Given the description of an element on the screen output the (x, y) to click on. 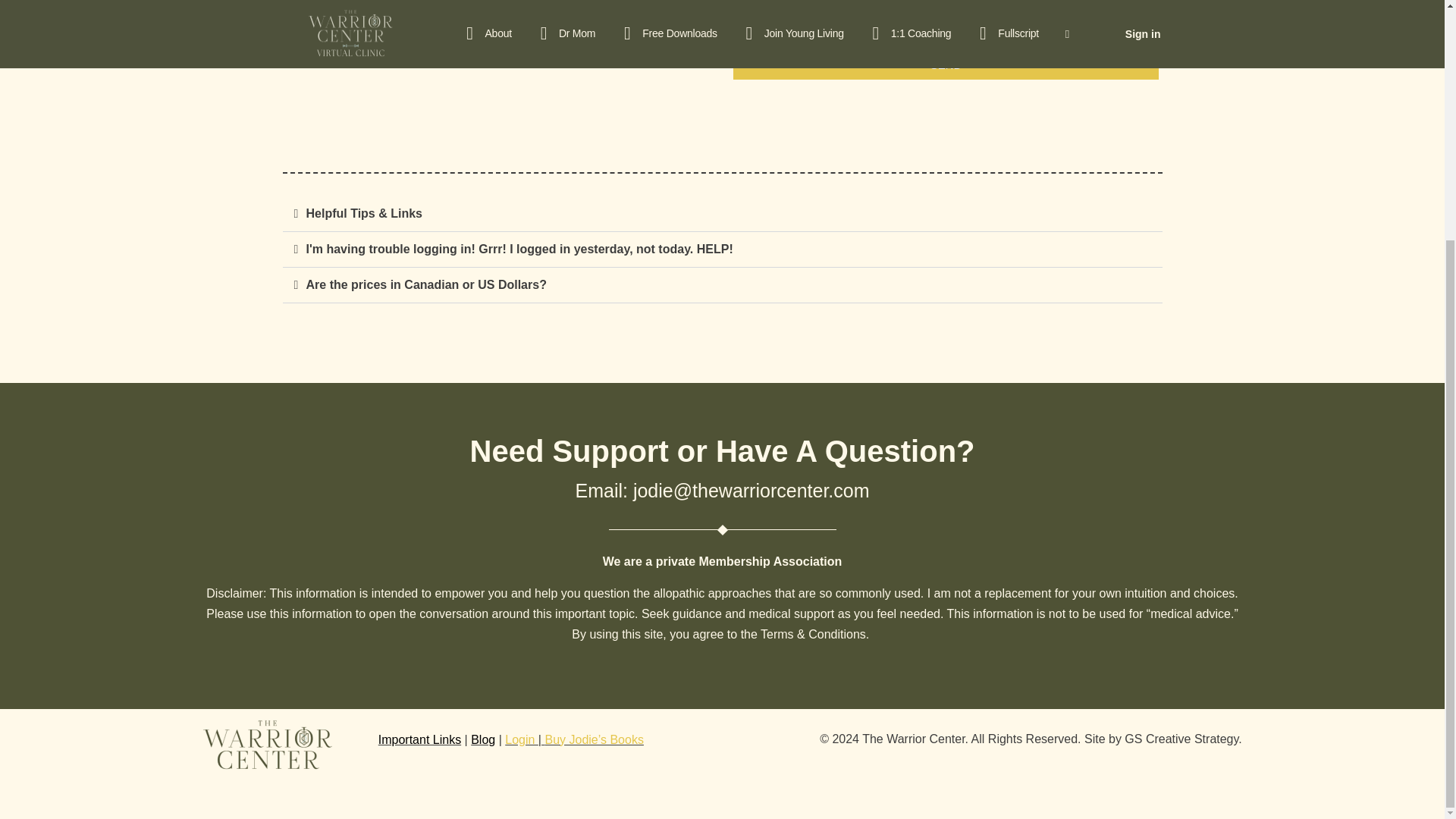
Are the prices in Canadian or US Dollars? (426, 284)
SEND (945, 64)
CLICK HERE (319, 59)
